Given the description of an element on the screen output the (x, y) to click on. 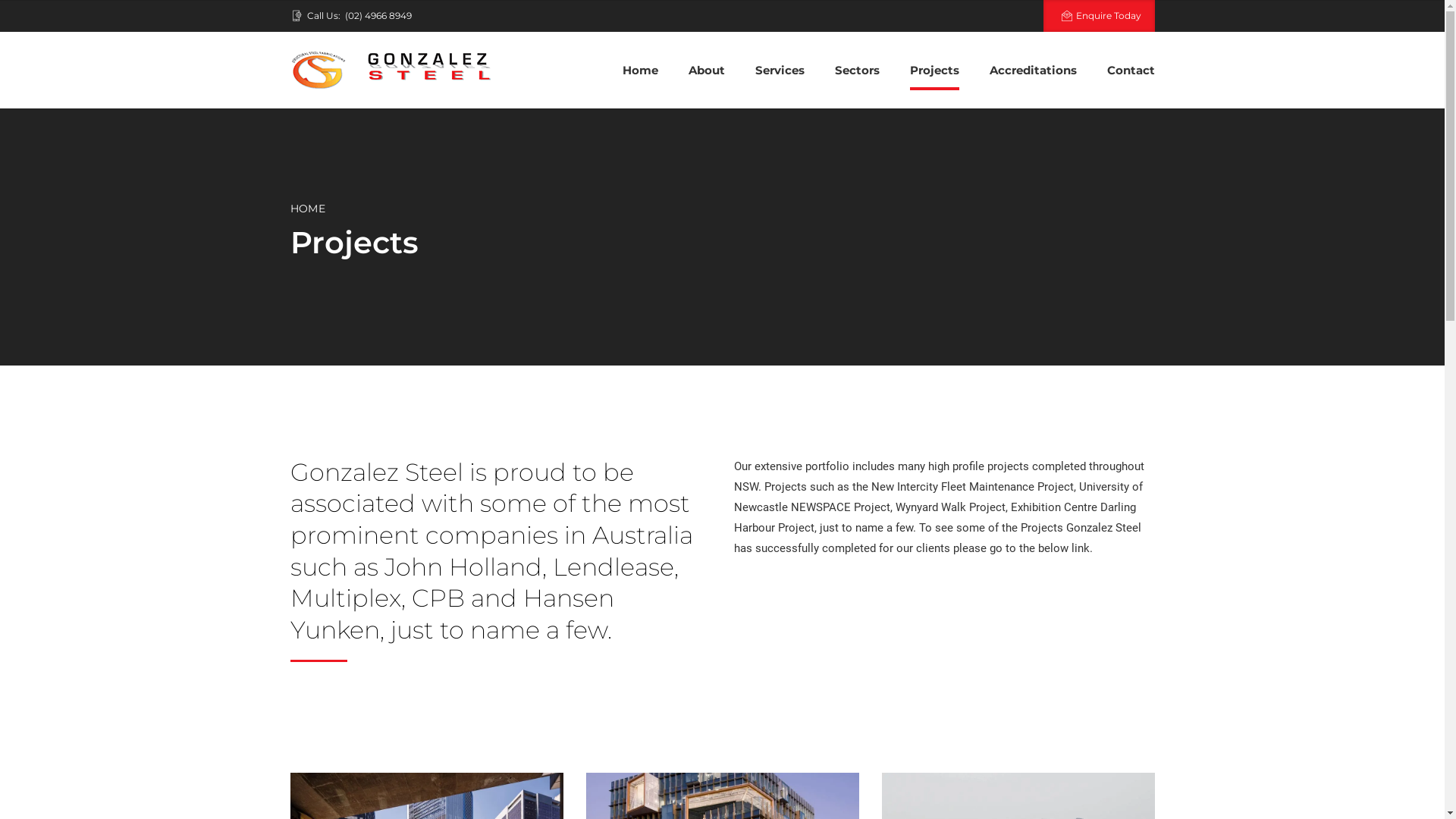
Accreditations Element type: text (1032, 70)
Projects Element type: text (934, 70)
About Element type: text (706, 70)
Home Element type: text (639, 70)
Services Element type: text (779, 70)
Contact Element type: text (1130, 70)
Sectors Element type: text (856, 70)
Call Us: (02) 4966 8949 Element type: text (352, 15)
Enquire Today Element type: text (1098, 15)
HOME Element type: text (306, 208)
